Given the description of an element on the screen output the (x, y) to click on. 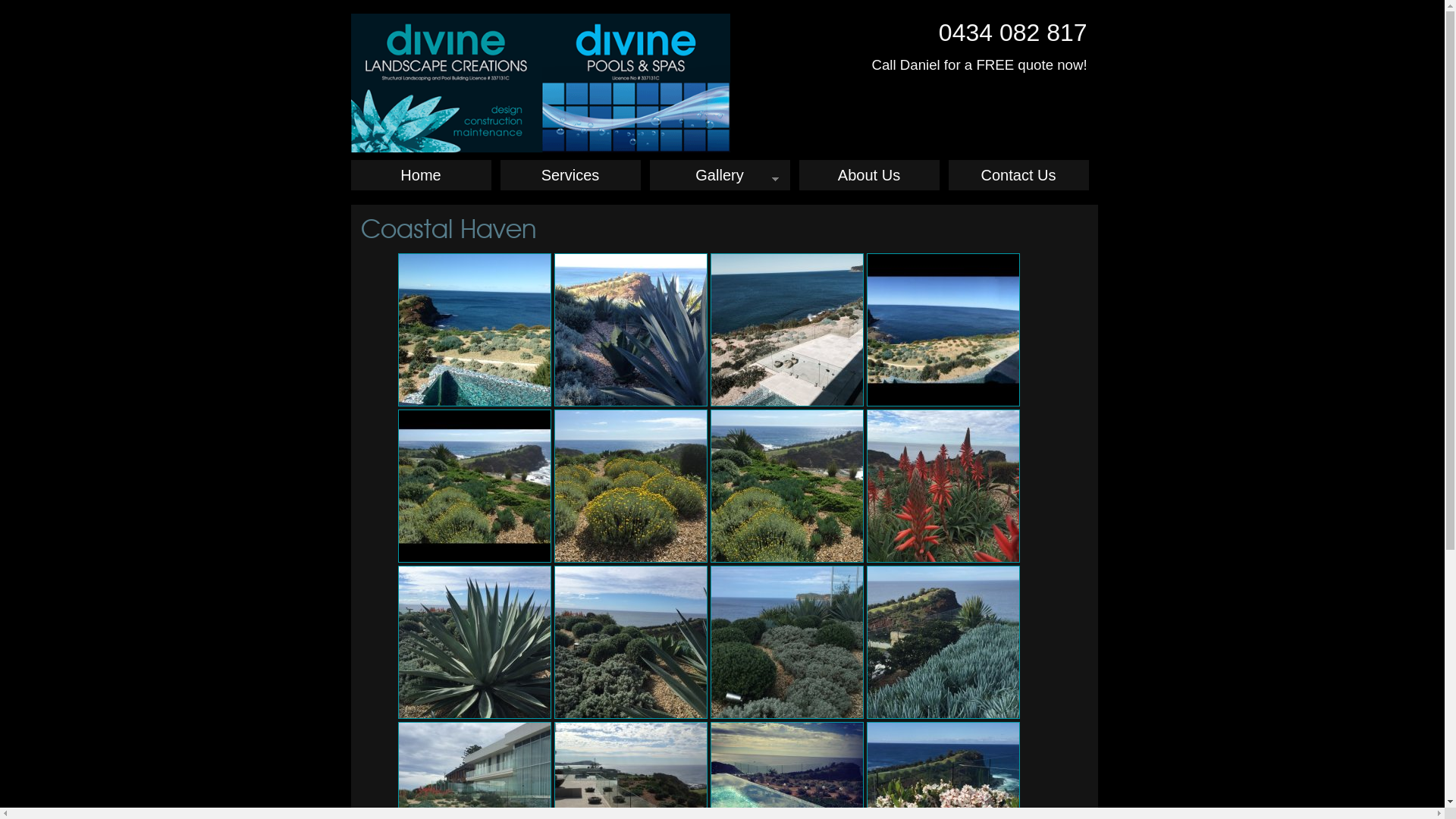
Home Element type: text (420, 175)
Contact Us Element type: text (1017, 175)
Services Element type: text (570, 175)
Divine Landscape Creations Element type: hover (541, 81)
About Us Element type: text (869, 175)
